Given the description of an element on the screen output the (x, y) to click on. 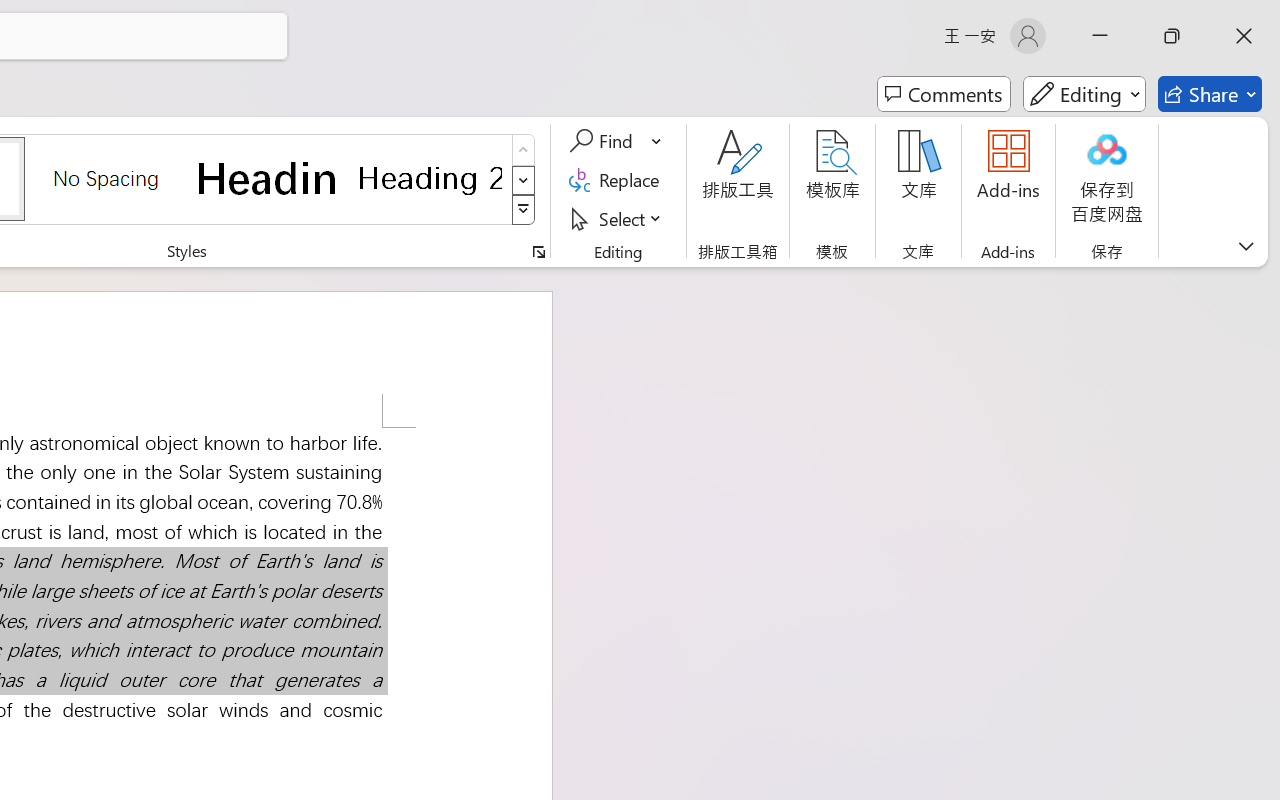
Line up (806, 221)
Present in Teams (1109, 54)
Comments (933, 54)
Search (904, 299)
